Given the description of an element on the screen output the (x, y) to click on. 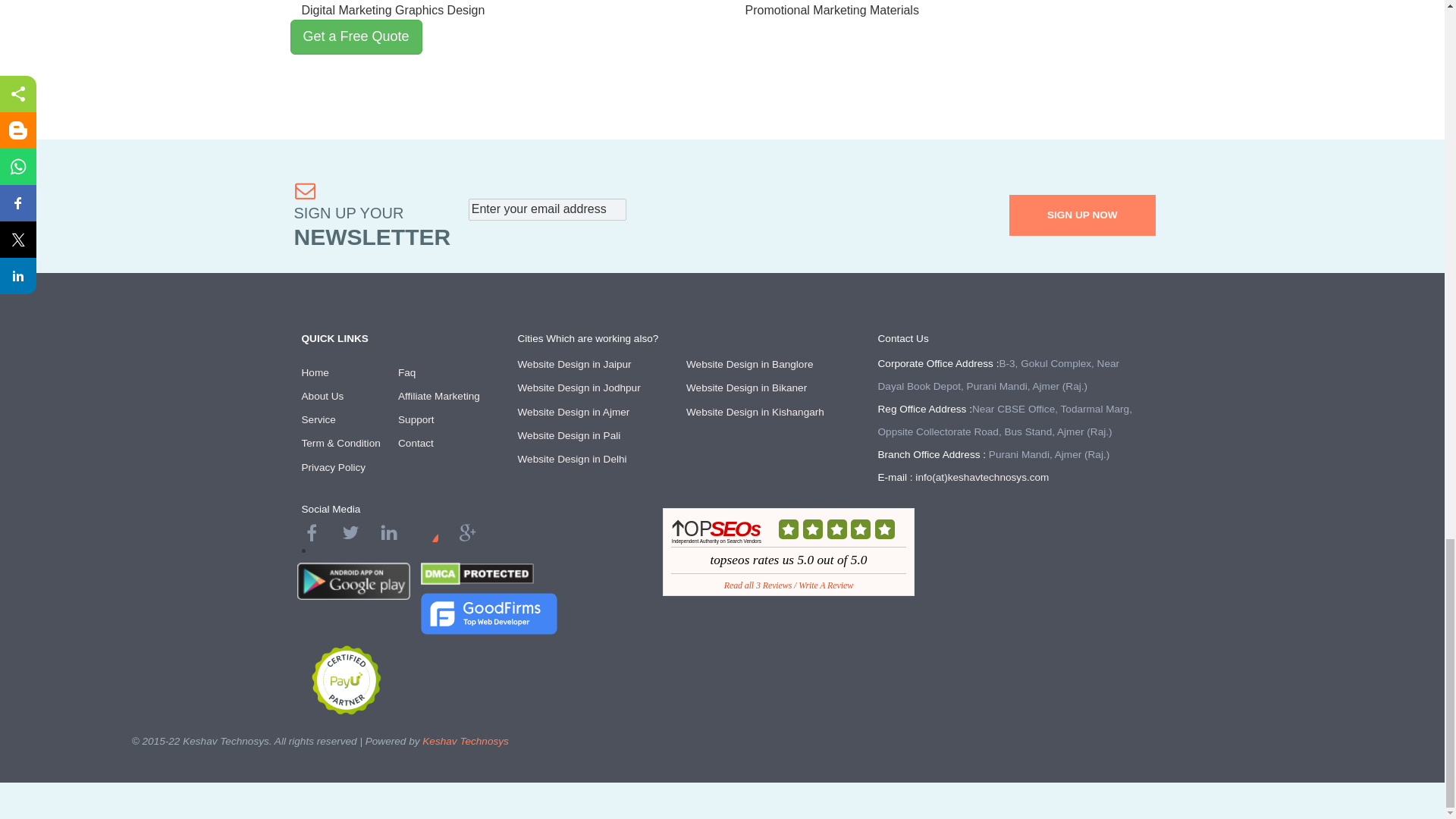
Sign Up Now (1082, 214)
Enter your email address (547, 209)
